Given the description of an element on the screen output the (x, y) to click on. 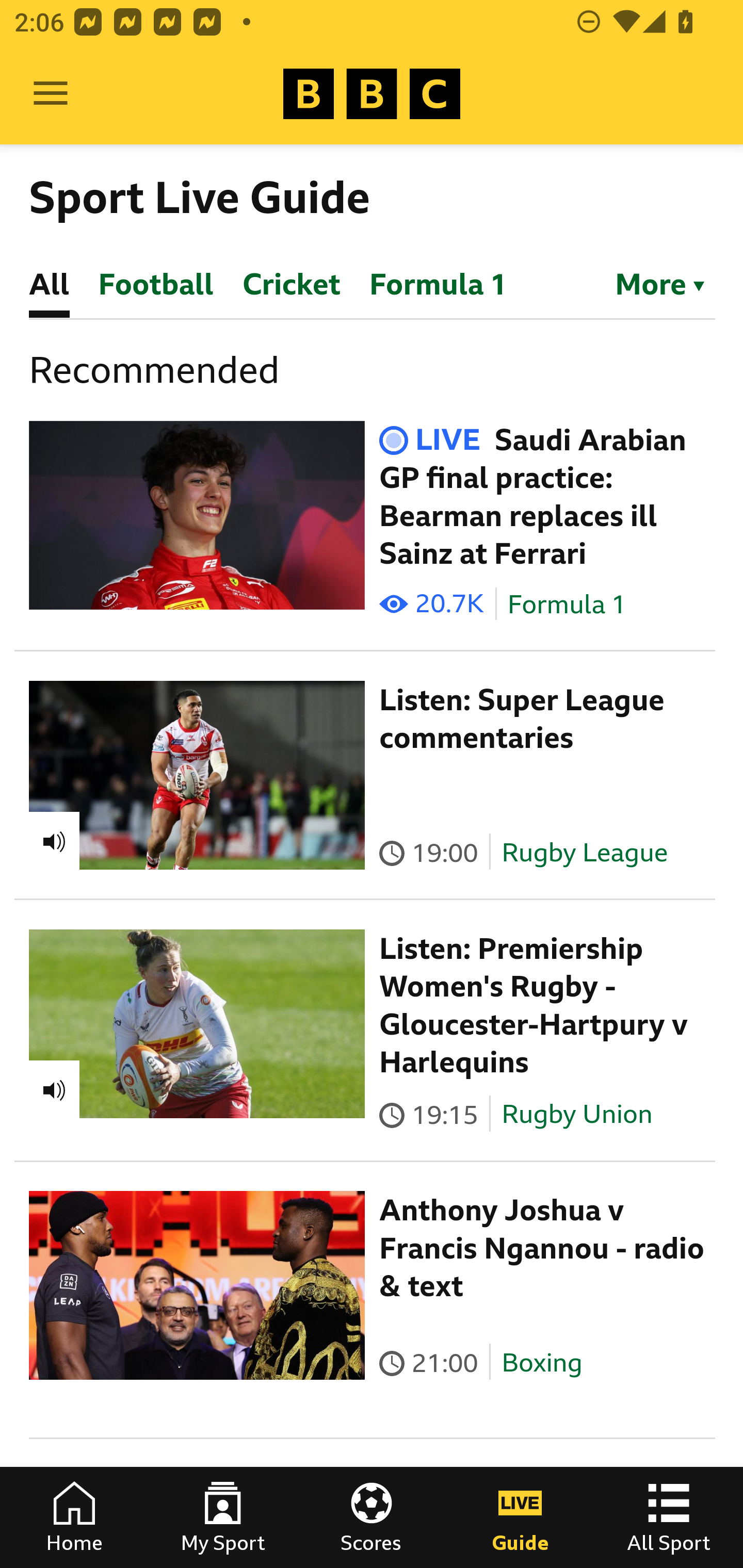
Open Menu (50, 93)
Formula 1 (566, 604)
Listen: Super League commentaries (522, 718)
Rugby League (584, 851)
Rugby Union (576, 1113)
Anthony Joshua v Francis Ngannou - radio & text (541, 1248)
Boxing (541, 1362)
Home (74, 1517)
My Sport (222, 1517)
Scores (371, 1517)
All Sport (668, 1517)
